Given the description of an element on the screen output the (x, y) to click on. 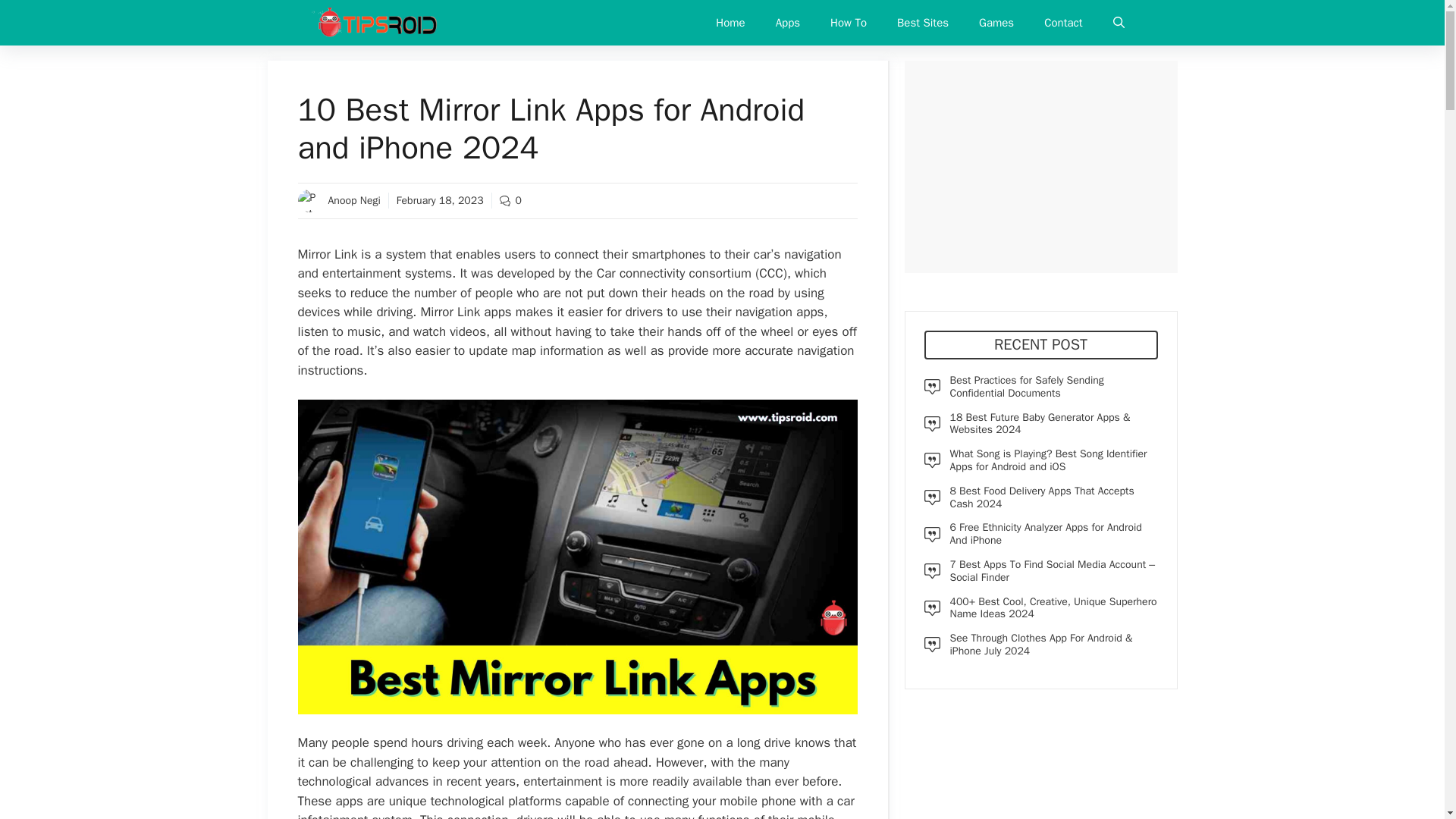
6 Free Ethnicity Analyzer Apps for Android And iPhone (1045, 533)
Tipsroid (374, 22)
8 Best Food Delivery Apps That Accepts Cash 2024 (1041, 497)
Home (730, 22)
Best Practices for Safely Sending Confidential Documents (1026, 386)
Apps (787, 22)
Advertisement (1040, 166)
Games (996, 22)
Anoop Negi (353, 200)
How To (848, 22)
Best Sites (922, 22)
Contact (1063, 22)
